Given the description of an element on the screen output the (x, y) to click on. 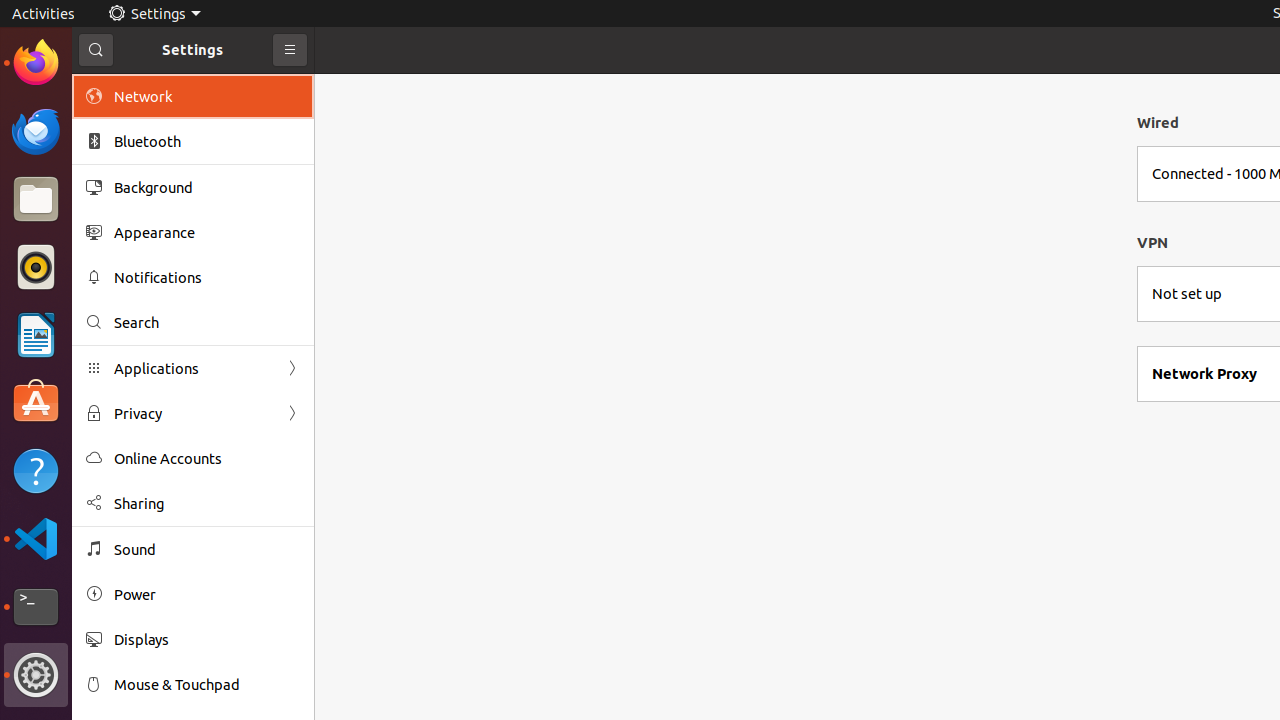
Trash Element type: label (133, 191)
Appearance Element type: label (207, 232)
Sound Element type: label (207, 549)
Terminal Element type: push-button (36, 607)
